Given the description of an element on the screen output the (x, y) to click on. 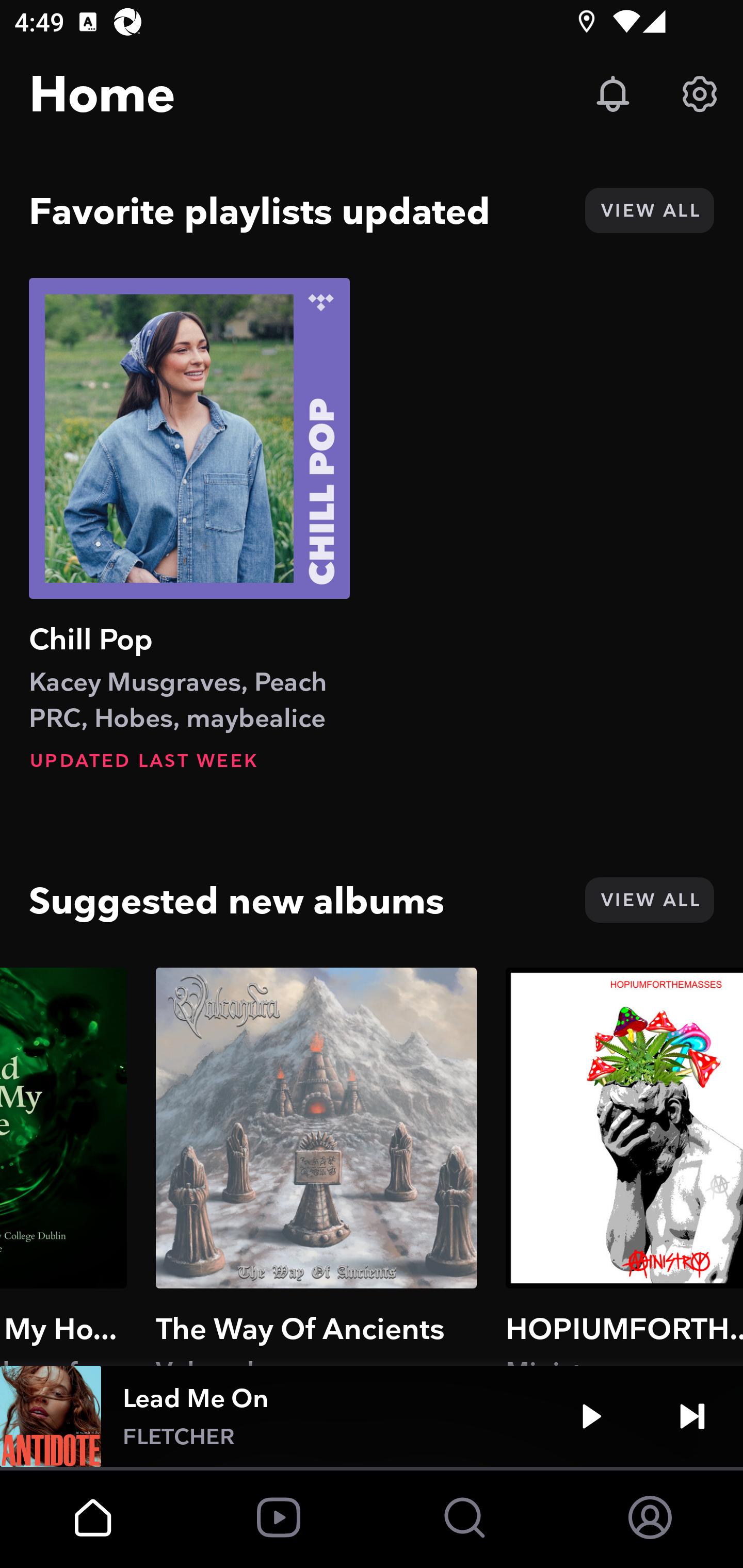
Updates (612, 93)
Settings (699, 93)
VIEW ALL (649, 210)
VIEW ALL (649, 899)
The Way Of Ancients Volcandra (316, 1166)
HOPIUMFORTHEMASSES Ministry (624, 1166)
Lead Me On FLETCHER Play (371, 1416)
Play (590, 1416)
